Given the description of an element on the screen output the (x, y) to click on. 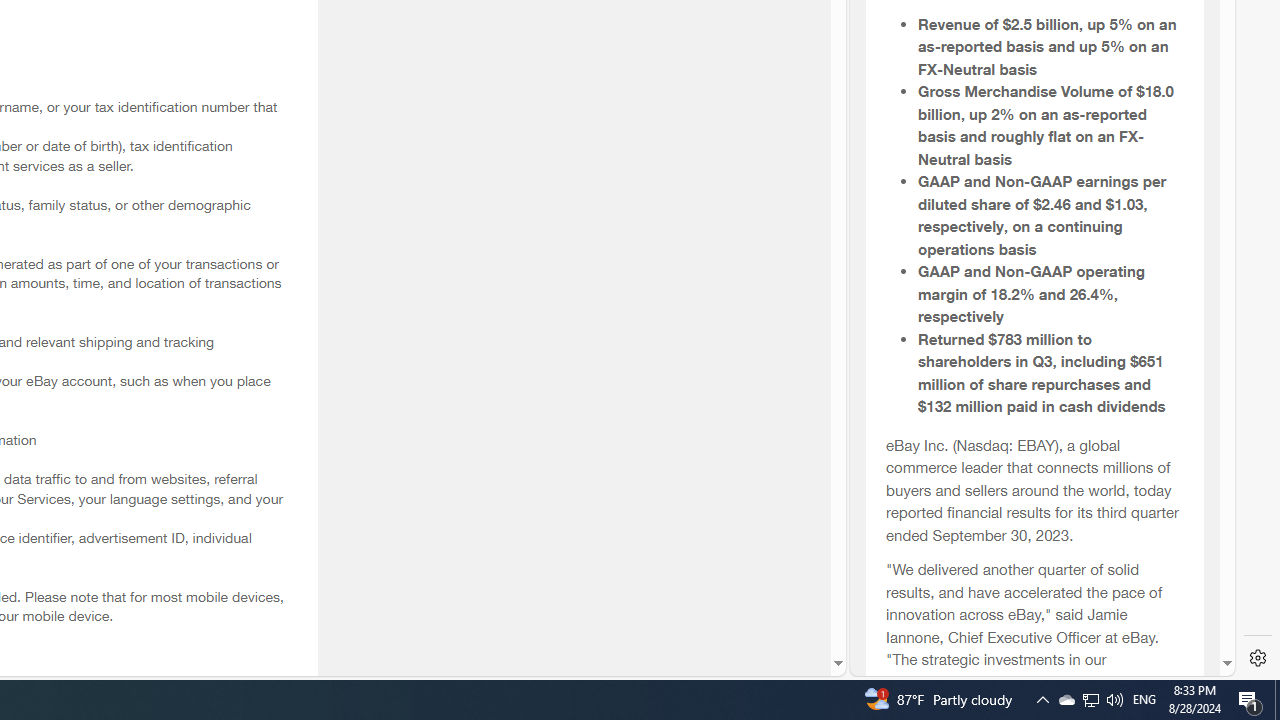
including vs included (1034, 494)
Global web icon (888, 246)
what is another word for including (1034, 584)
what is another word for including (1034, 584)
is including a word (1034, 539)
including vs included (1034, 494)
Settings (1258, 658)
includes meaning (1034, 674)
is including a word (1034, 539)
includes meaning (1034, 674)
